Given the description of an element on the screen output the (x, y) to click on. 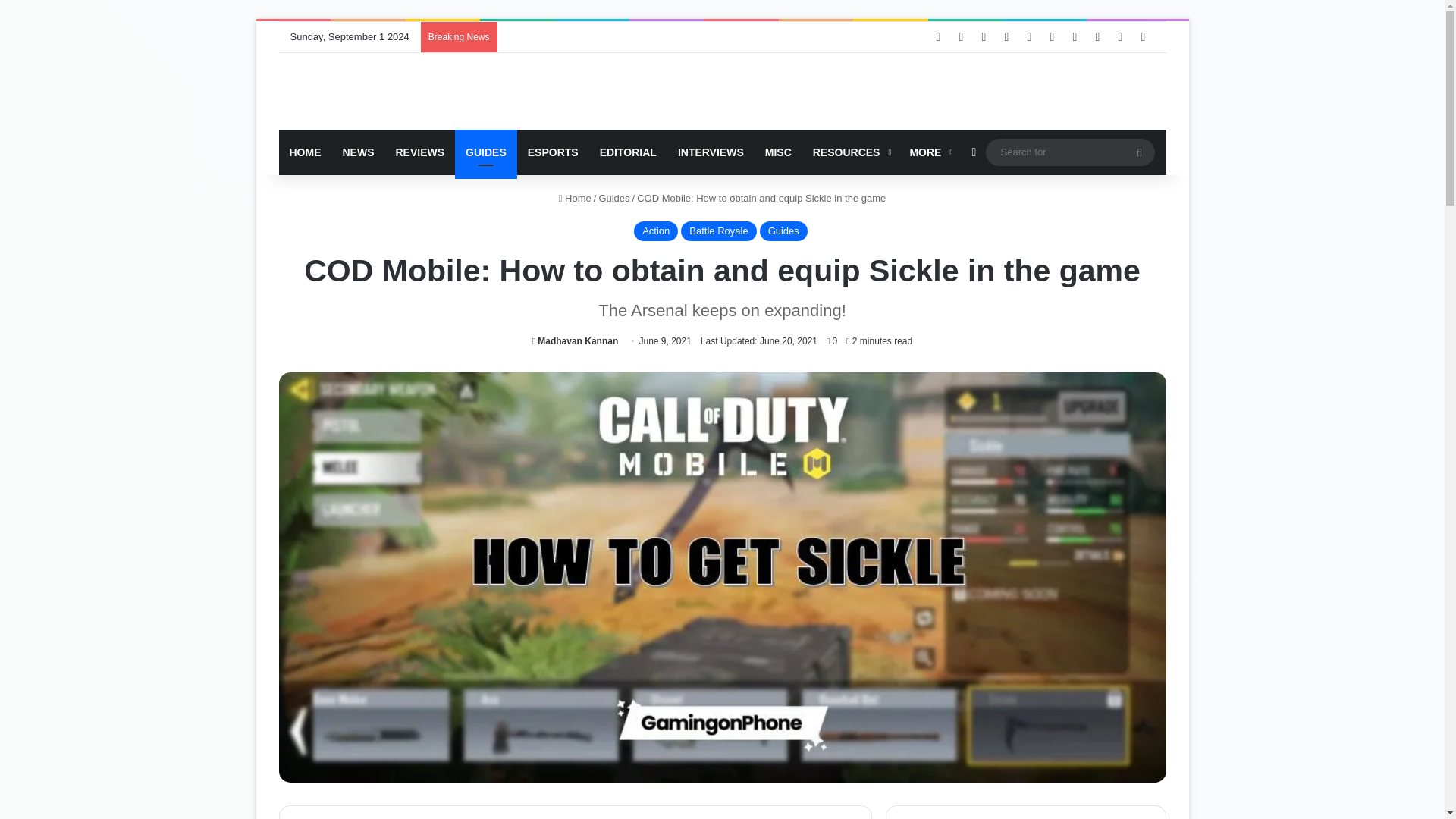
Madhavan Kannan (574, 340)
Search for (1069, 151)
RESOURCES (850, 152)
NEWS (358, 152)
MORE (928, 152)
HOME (305, 152)
MISC (778, 152)
GUIDES (485, 152)
REVIEWS (420, 152)
INTERVIEWS (710, 152)
